Given the description of an element on the screen output the (x, y) to click on. 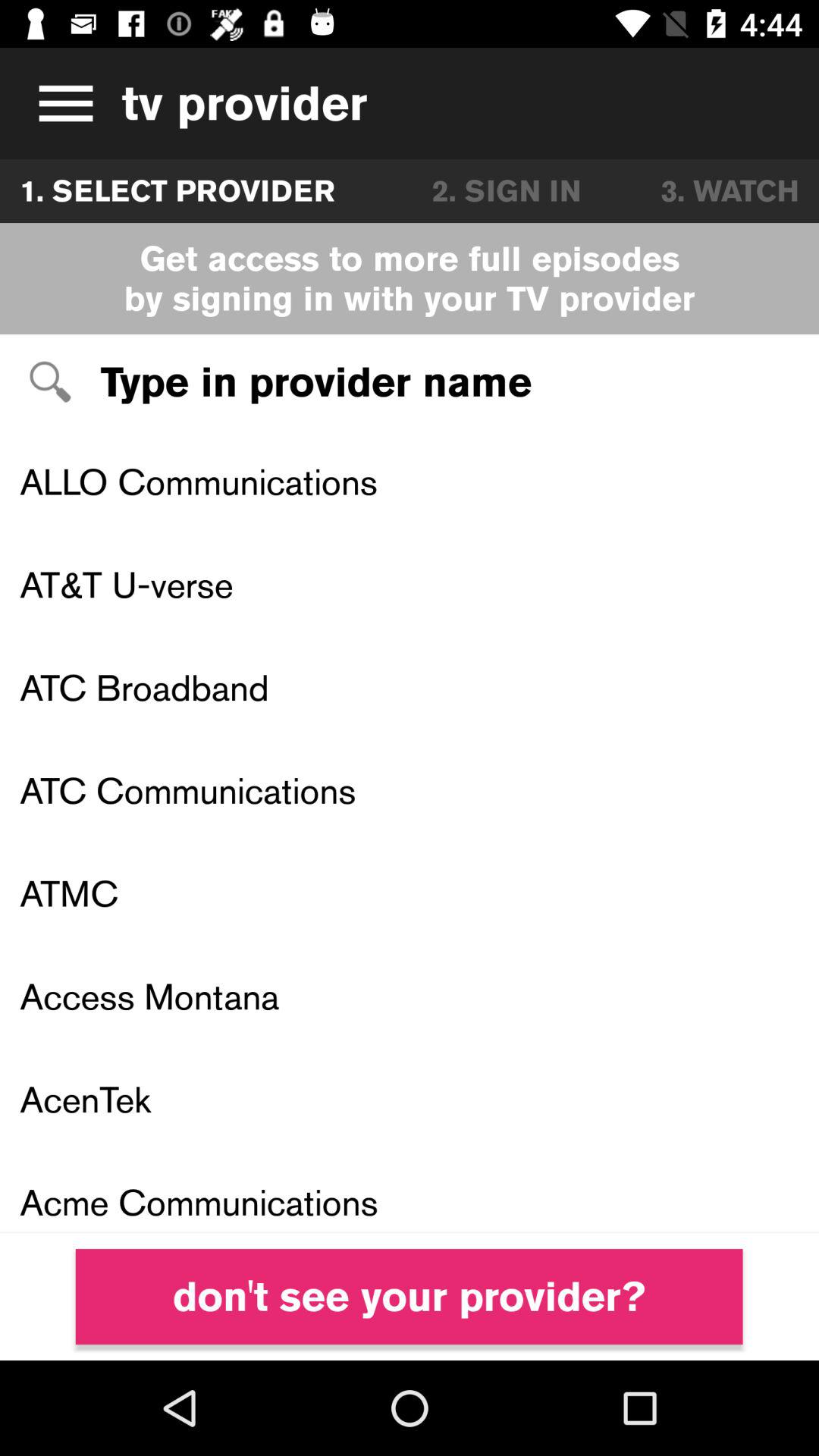
turn off icon below access montana icon (409, 1099)
